Given the description of an element on the screen output the (x, y) to click on. 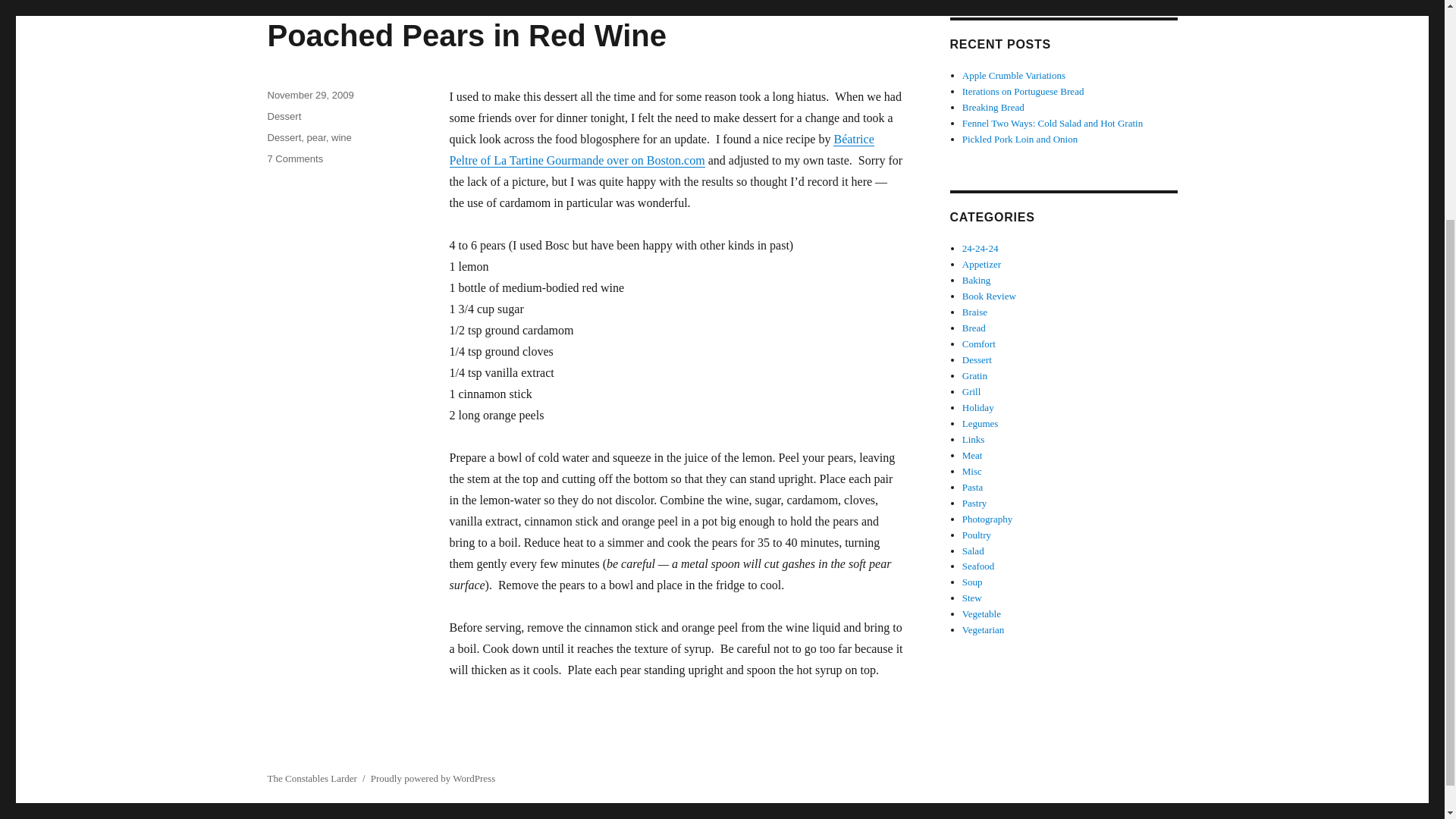
pear (316, 137)
Breaking Bread (993, 107)
Dessert (283, 137)
Dessert (283, 116)
Grill (971, 391)
Iterations on Portuguese Bread (1023, 91)
Comfort (978, 343)
Poultry (976, 534)
Braise (974, 311)
Pickled Pork Loin and Onion (1019, 138)
Holiday (978, 407)
Appetizer (981, 264)
November 29, 2009 (309, 94)
Poached Pears in Red Wine (465, 35)
Salad (973, 550)
